Given the description of an element on the screen output the (x, y) to click on. 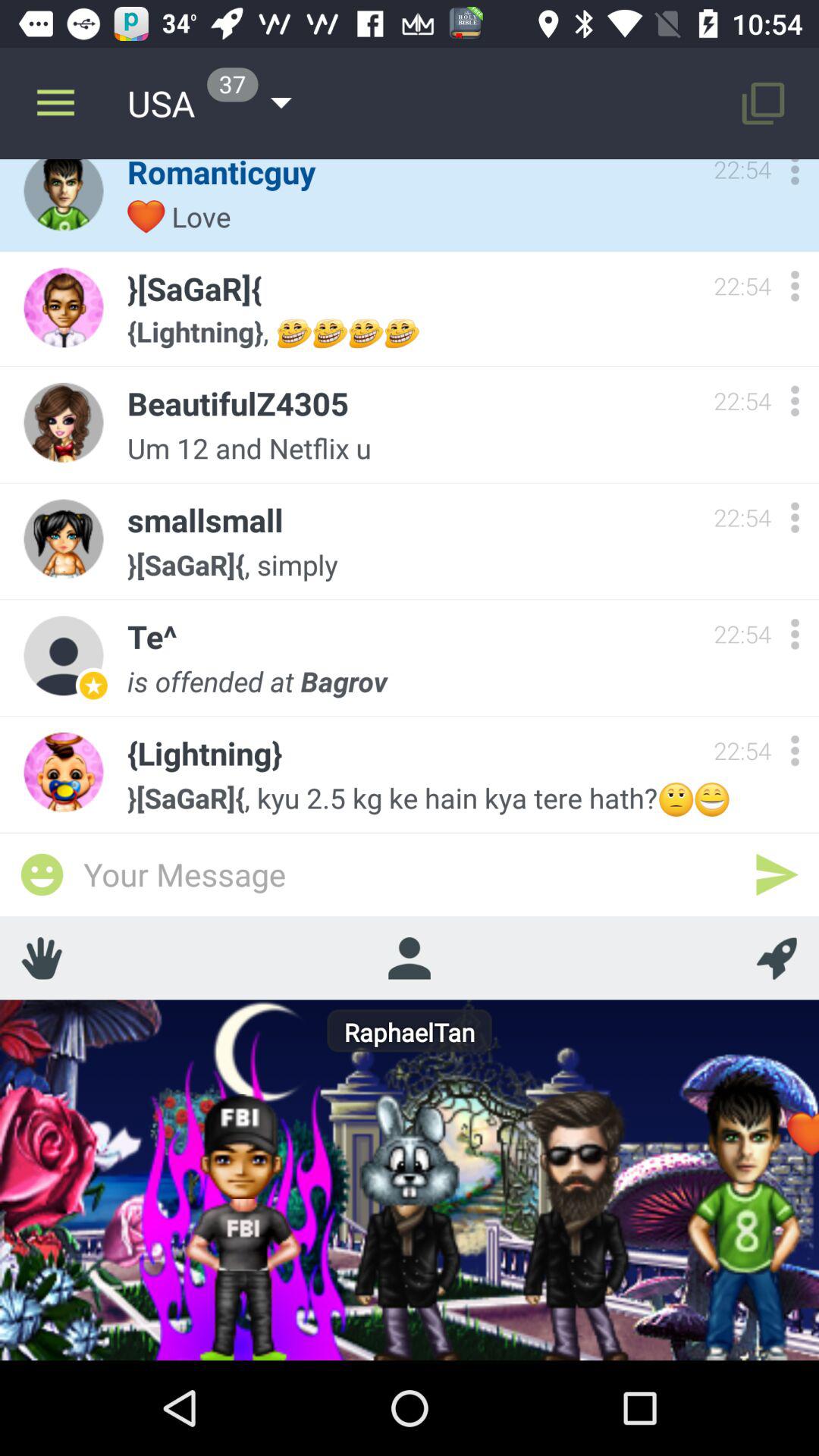
select option button (795, 285)
